Given the description of an element on the screen output the (x, y) to click on. 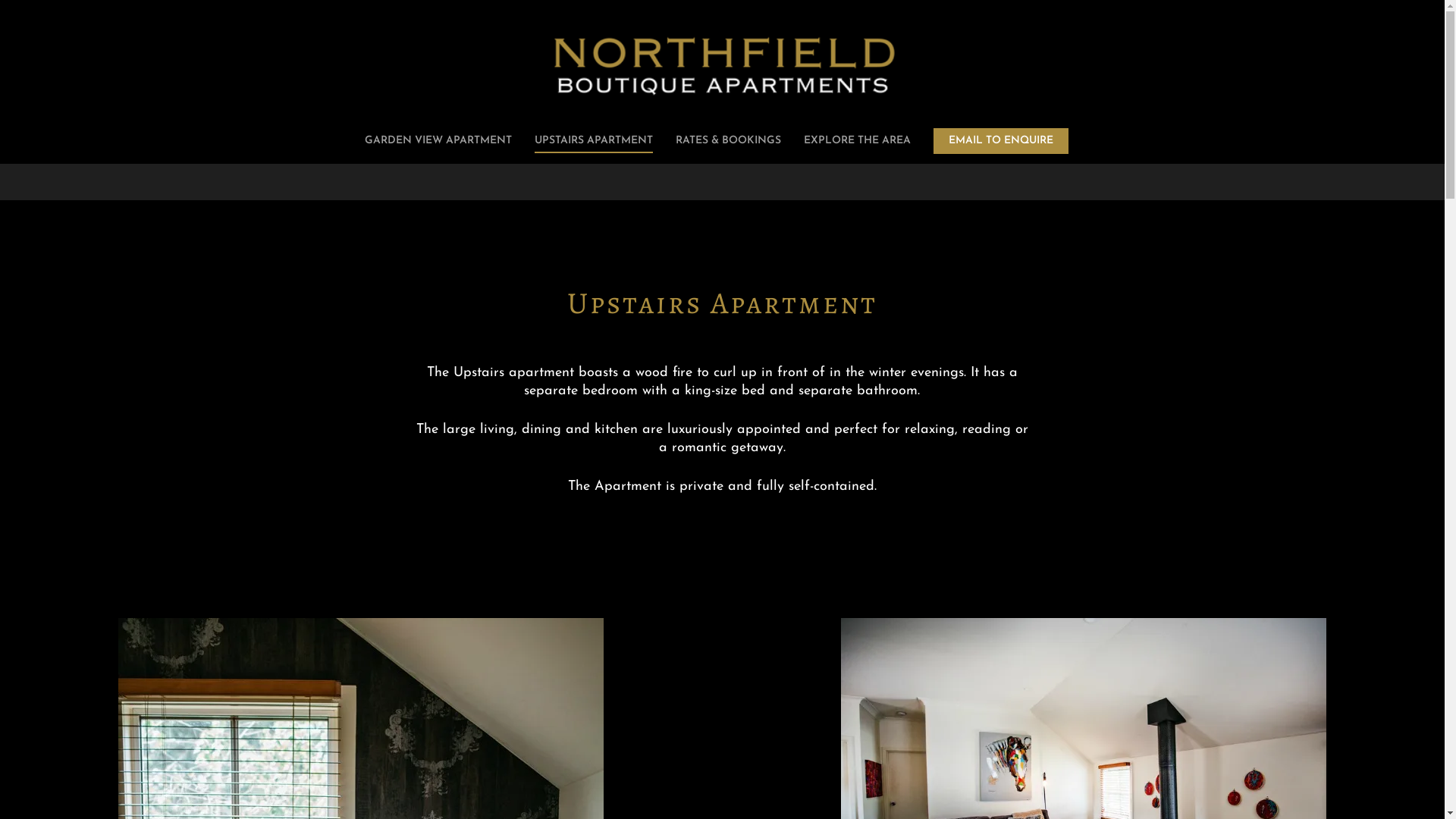
EXPLORE THE AREA Element type: text (856, 148)
RATES & BOOKINGS Element type: text (728, 148)
UPSTAIRS APARTMENT Element type: text (593, 148)
EMAIL TO ENQUIRE Element type: text (1000, 148)
GARDEN VIEW APARTMENT Element type: text (437, 148)
